Given the description of an element on the screen output the (x, y) to click on. 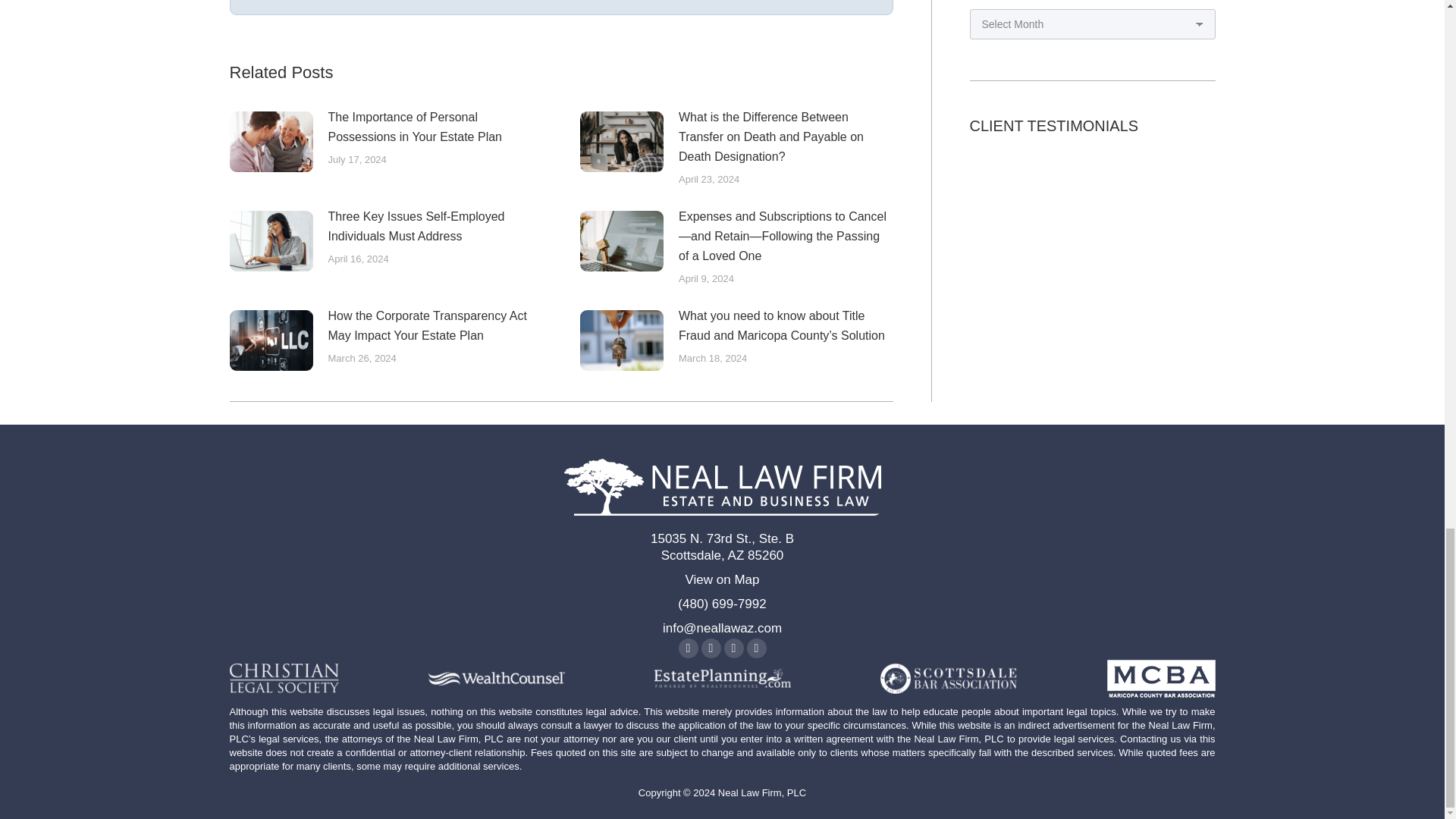
Linkedin page opens in new window (732, 648)
X page opens in new window (710, 648)
Facebook page opens in new window (687, 648)
Instagram page opens in new window (755, 648)
